Given the description of an element on the screen output the (x, y) to click on. 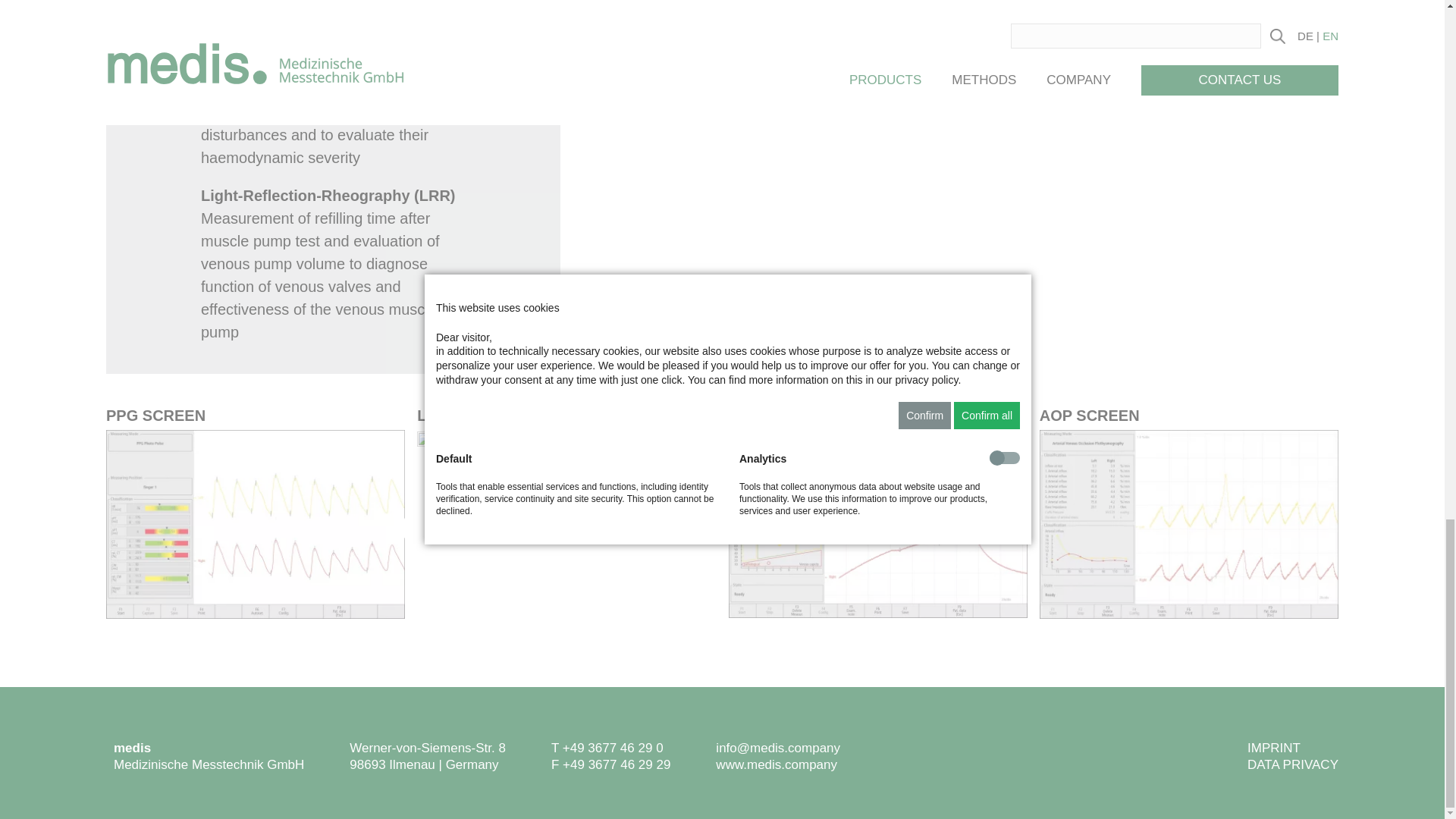
LRR Screen (566, 524)
DATA PRIVACY (1292, 764)
www.medis.company (776, 764)
IMPRINT (1273, 748)
PPG Screen (255, 524)
